Given the description of an element on the screen output the (x, y) to click on. 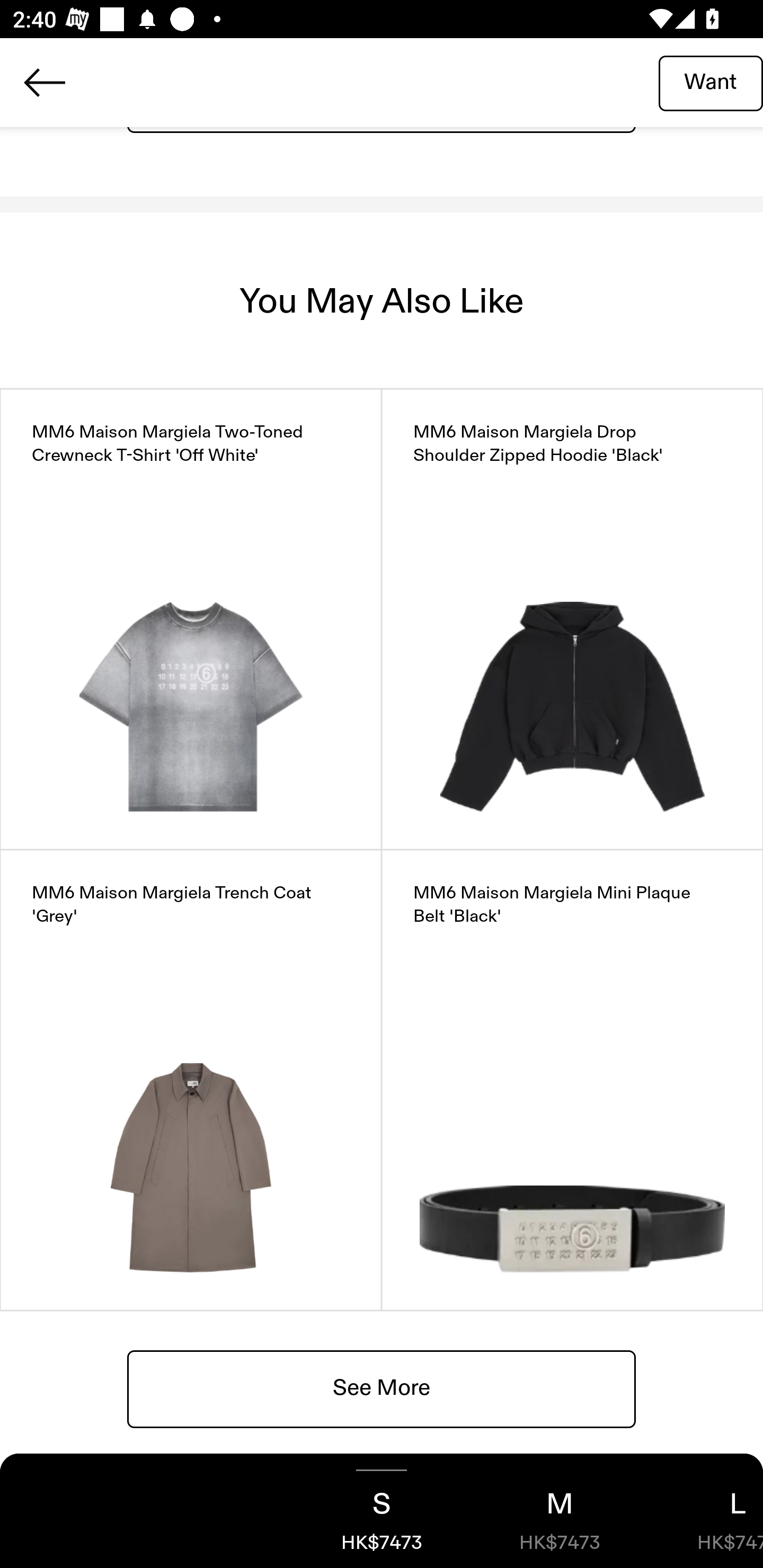
Want (710, 82)
MM6 Maison Margiela Trench Coat 'Grey' (190, 1079)
MM6 Maison Margiela Mini Plaque Belt 'Black' (572, 1079)
See More (381, 1388)
S HK$7473 (381, 1510)
M HK$7473 (559, 1510)
L HK$7473 (705, 1510)
